Given the description of an element on the screen output the (x, y) to click on. 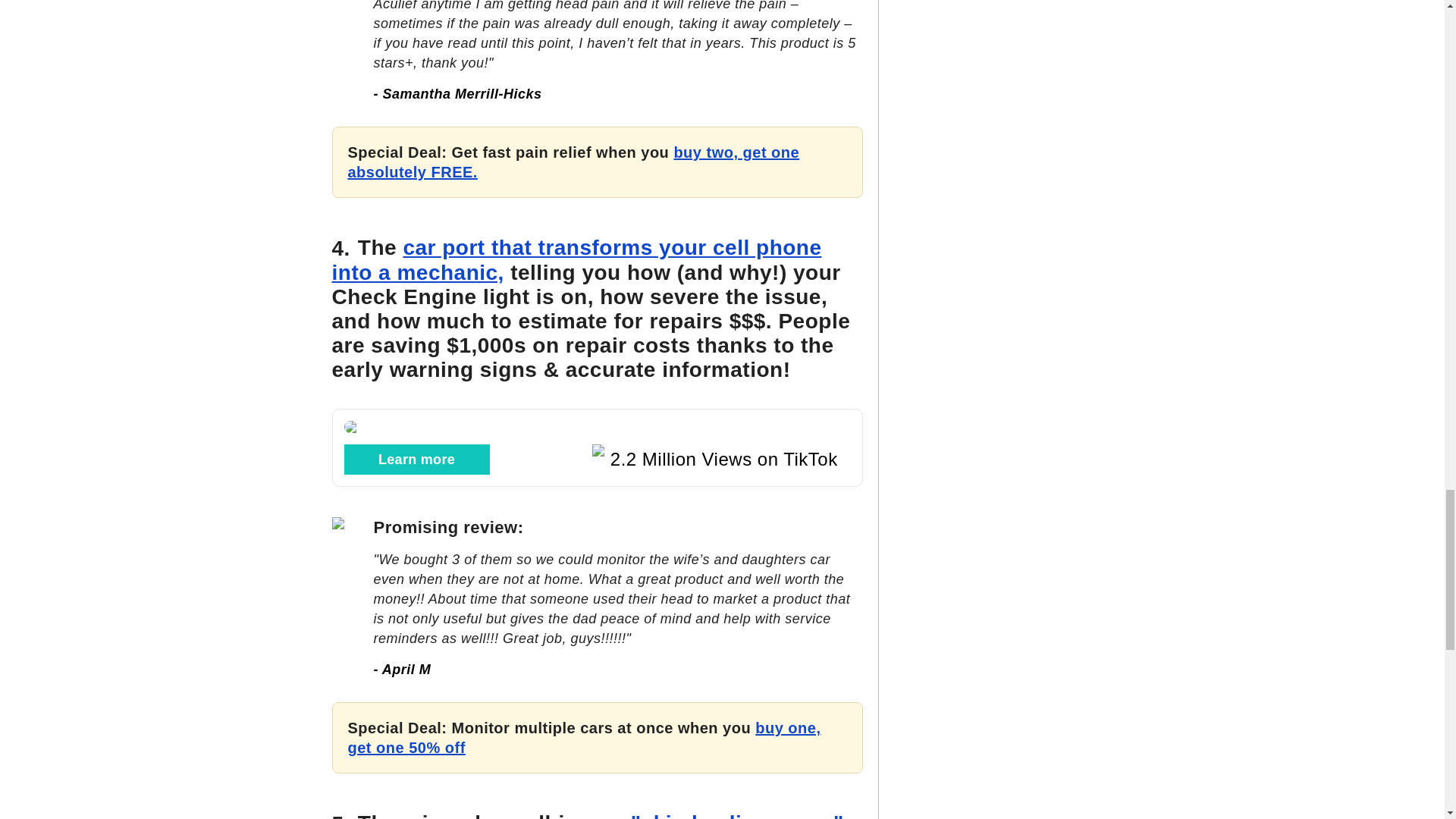
buy two, get one absolutely FREE. (573, 162)
"skin healing spray" (737, 815)
Learn more (416, 459)
car port that transforms your cell phone into a mechanic, (576, 259)
